Given the description of an element on the screen output the (x, y) to click on. 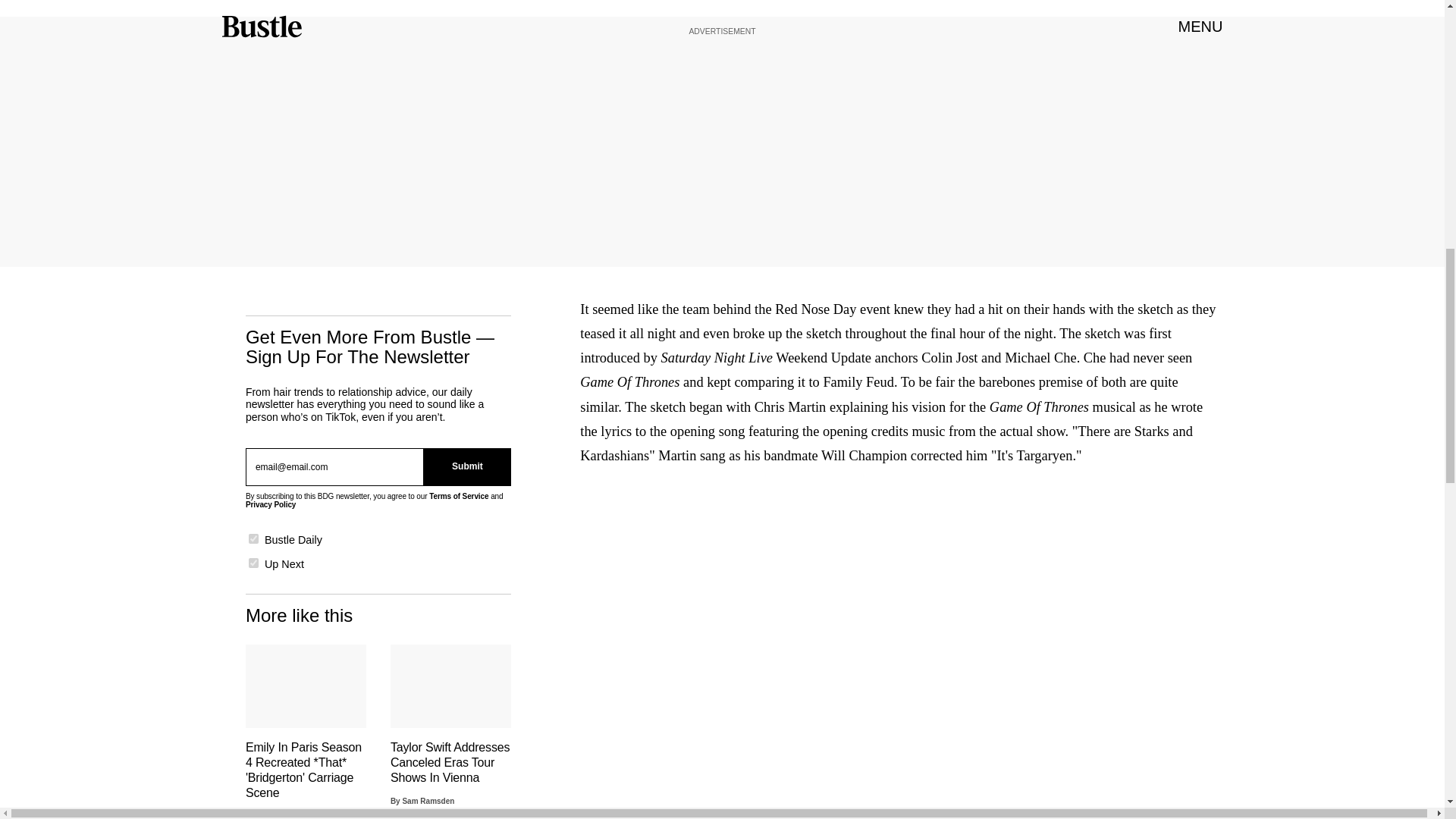
Privacy Policy (270, 504)
Terms of Service (458, 496)
Submit (467, 466)
